Given the description of an element on the screen output the (x, y) to click on. 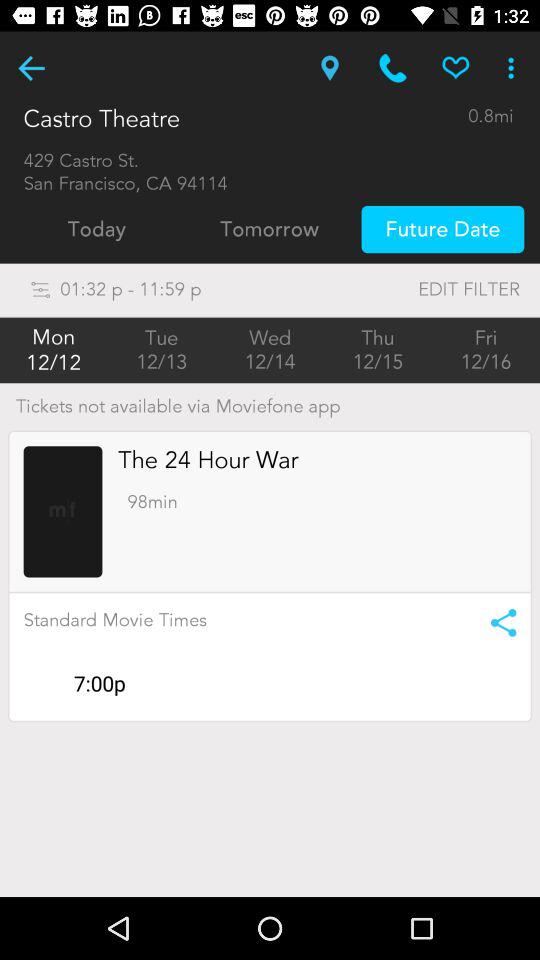
loads the movie 's profile (62, 511)
